Given the description of an element on the screen output the (x, y) to click on. 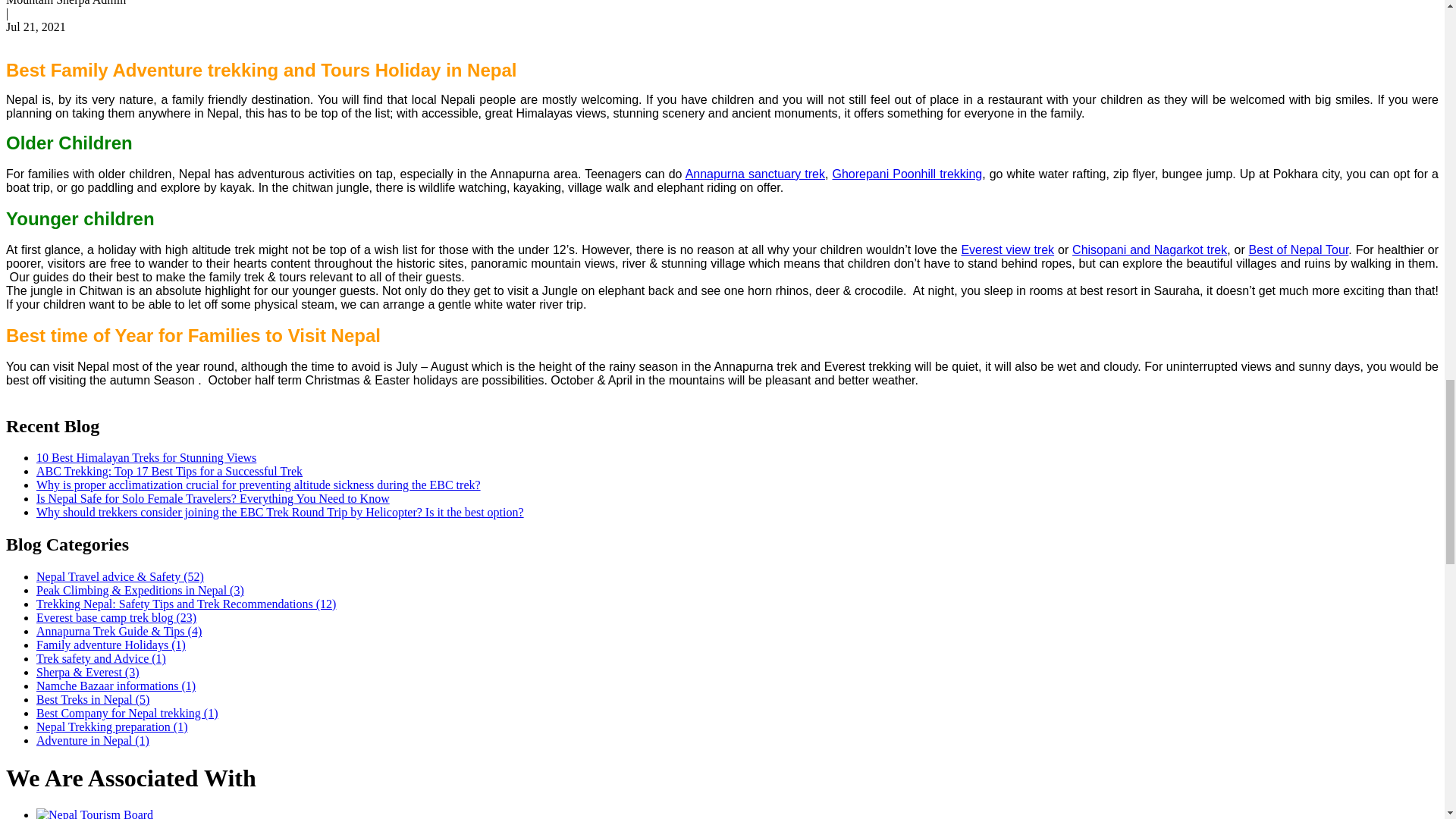
Mountain Sherpa Associated with Nepal Tourism board (94, 813)
Annapurna sanctuary trek (755, 173)
Ghorepani Poonhill trekking (906, 173)
Chisopani and Nagarkot trek (1149, 249)
Best of Nepal Tour (1299, 249)
Everest view trek (1007, 249)
